Given the description of an element on the screen output the (x, y) to click on. 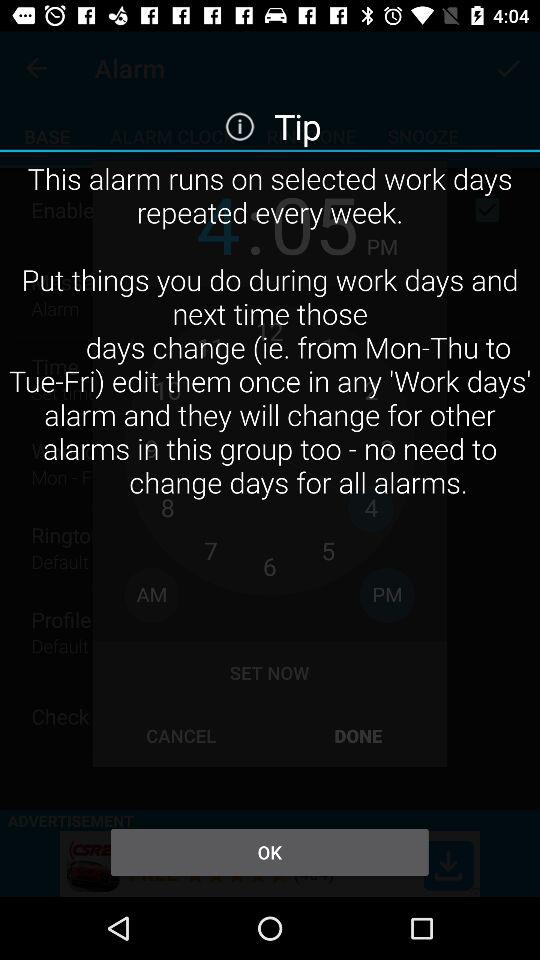
swipe to ok icon (269, 851)
